Given the description of an element on the screen output the (x, y) to click on. 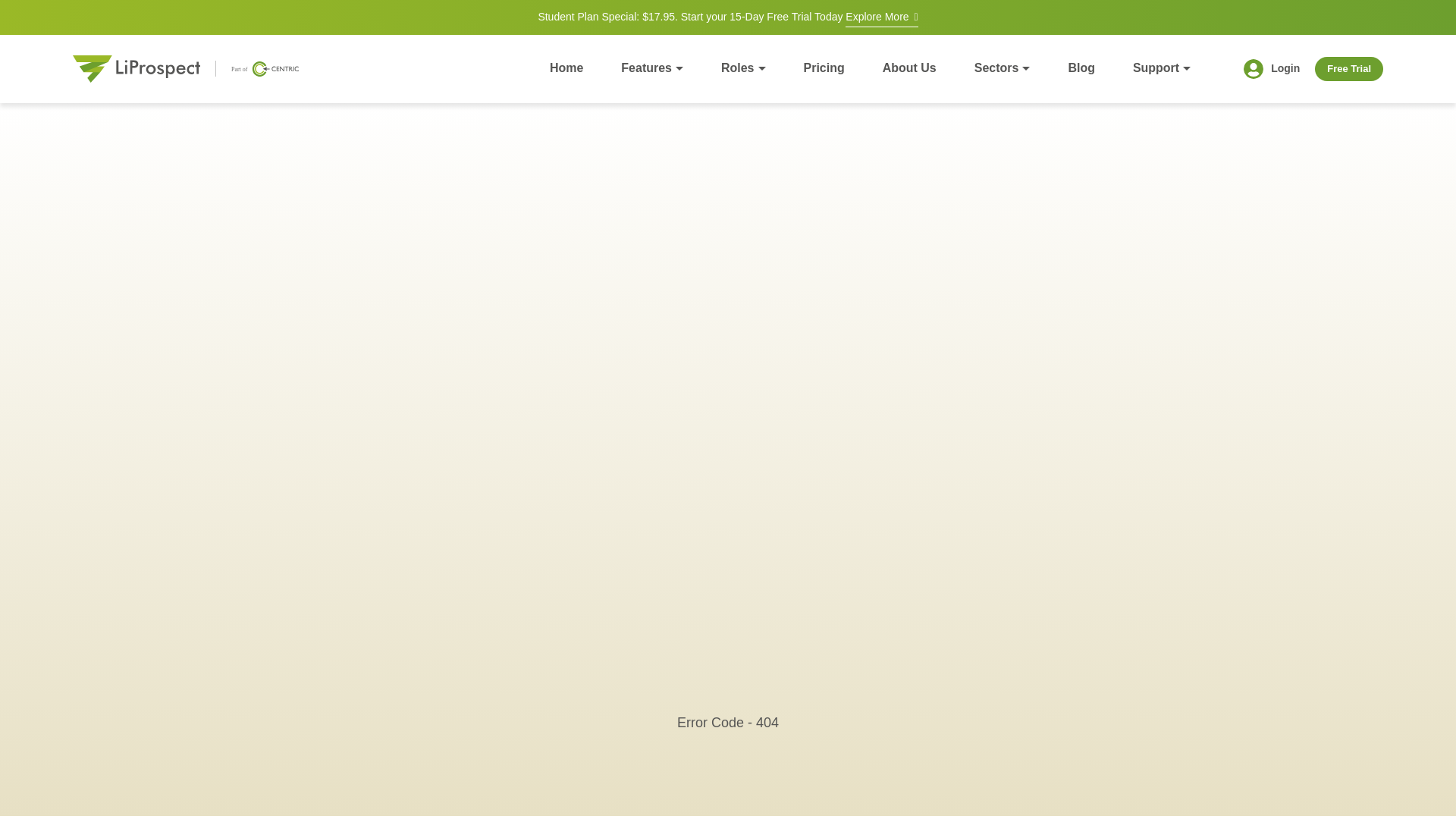
Pricing (823, 67)
Roles (742, 67)
Explore More (881, 18)
Blog (1080, 67)
About Us (909, 67)
Home (566, 67)
Sectors (1002, 67)
Support (1161, 67)
Features (651, 67)
